Given the description of an element on the screen output the (x, y) to click on. 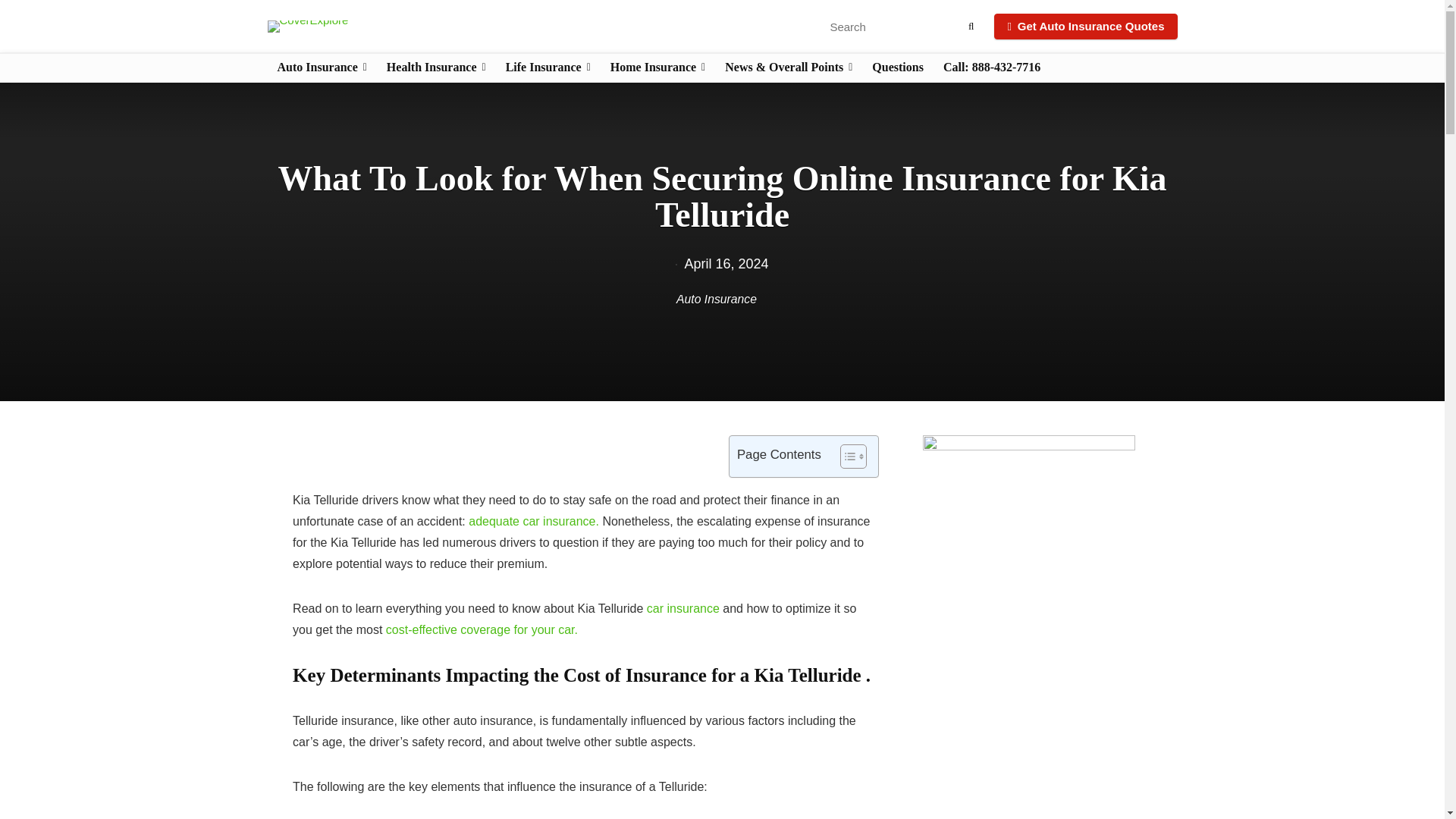
Home Insurance (656, 68)
Get Auto Insurance Quotes (1085, 26)
Auto Insurance (320, 68)
Life Insurance (547, 68)
Health Insurance (436, 68)
View all posts in Auto Insurance (717, 298)
